Given the description of an element on the screen output the (x, y) to click on. 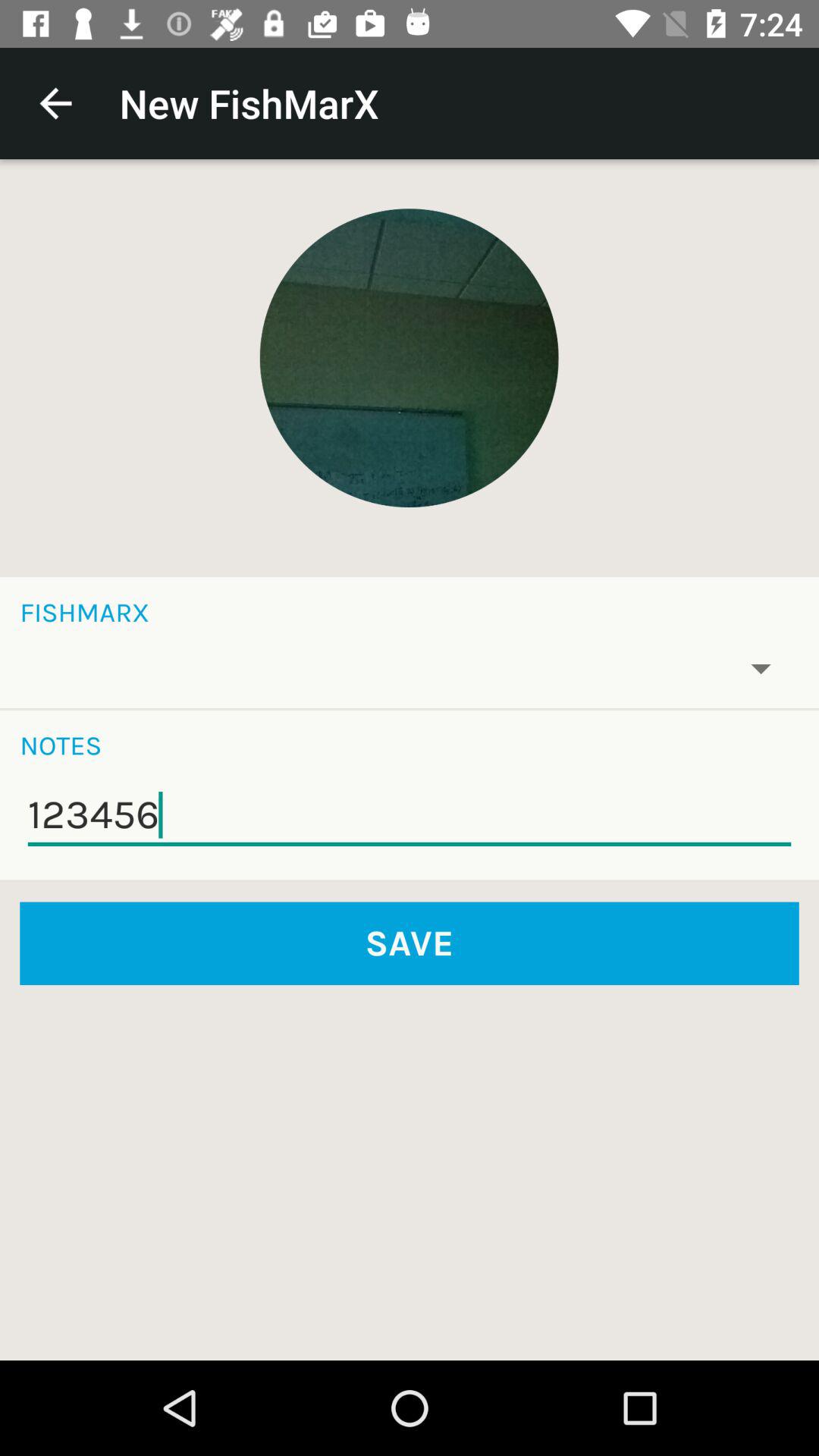
choose the icon to the left of new fishmarx item (55, 103)
